Given the description of an element on the screen output the (x, y) to click on. 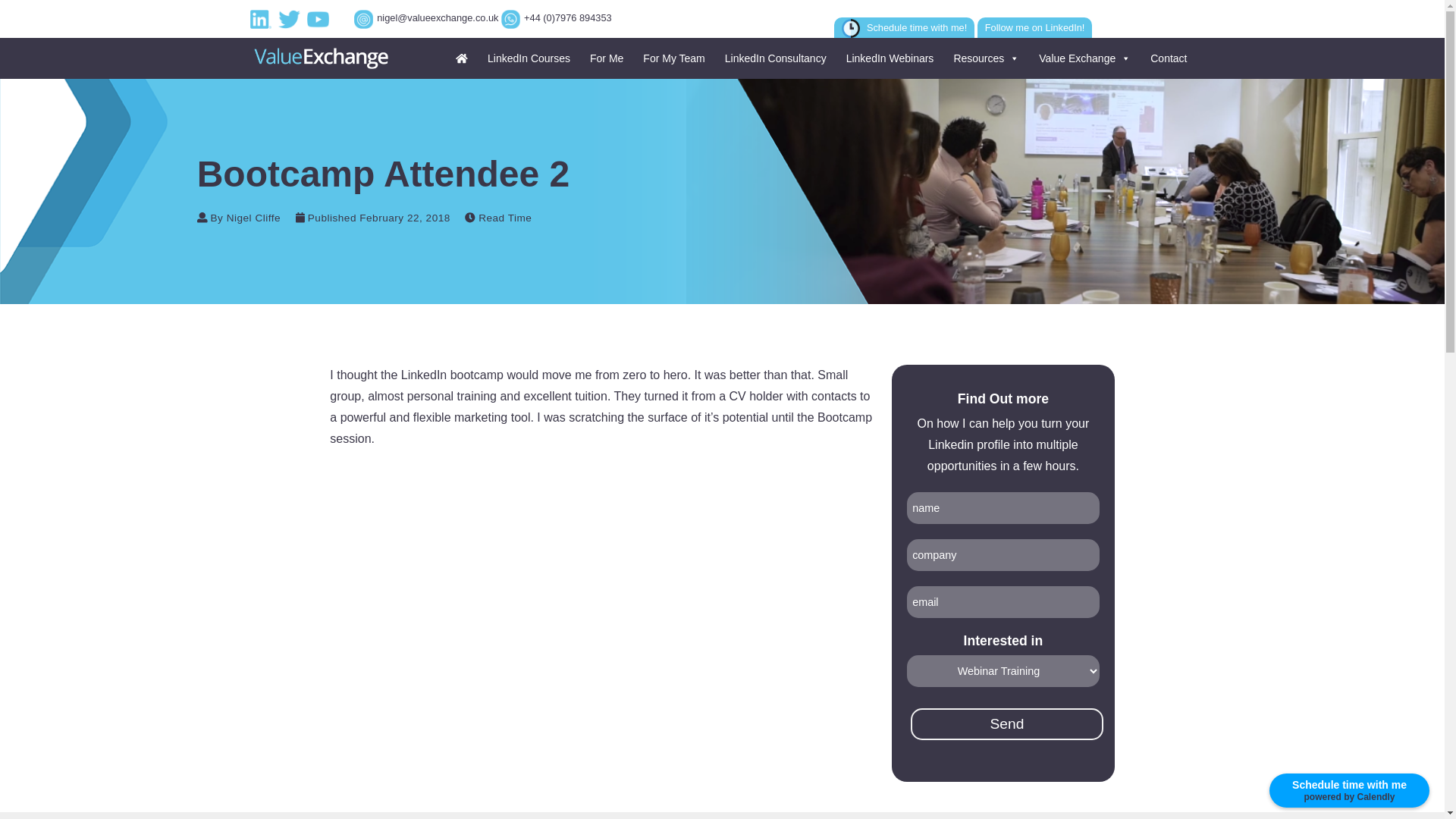
Follow me on LinkedIn! (1034, 27)
LinkedIn Webinars (888, 58)
LinkedIn Consultancy (773, 58)
LinkedIn (263, 17)
Twitter (291, 17)
Send (1007, 724)
For Me (604, 58)
Contact (1165, 58)
YouTube (320, 17)
Resources (983, 58)
Schedule time with me! (904, 27)
LinkedIn Courses (527, 58)
Value Exchange (1082, 58)
For My Team (670, 58)
